Given the description of an element on the screen output the (x, y) to click on. 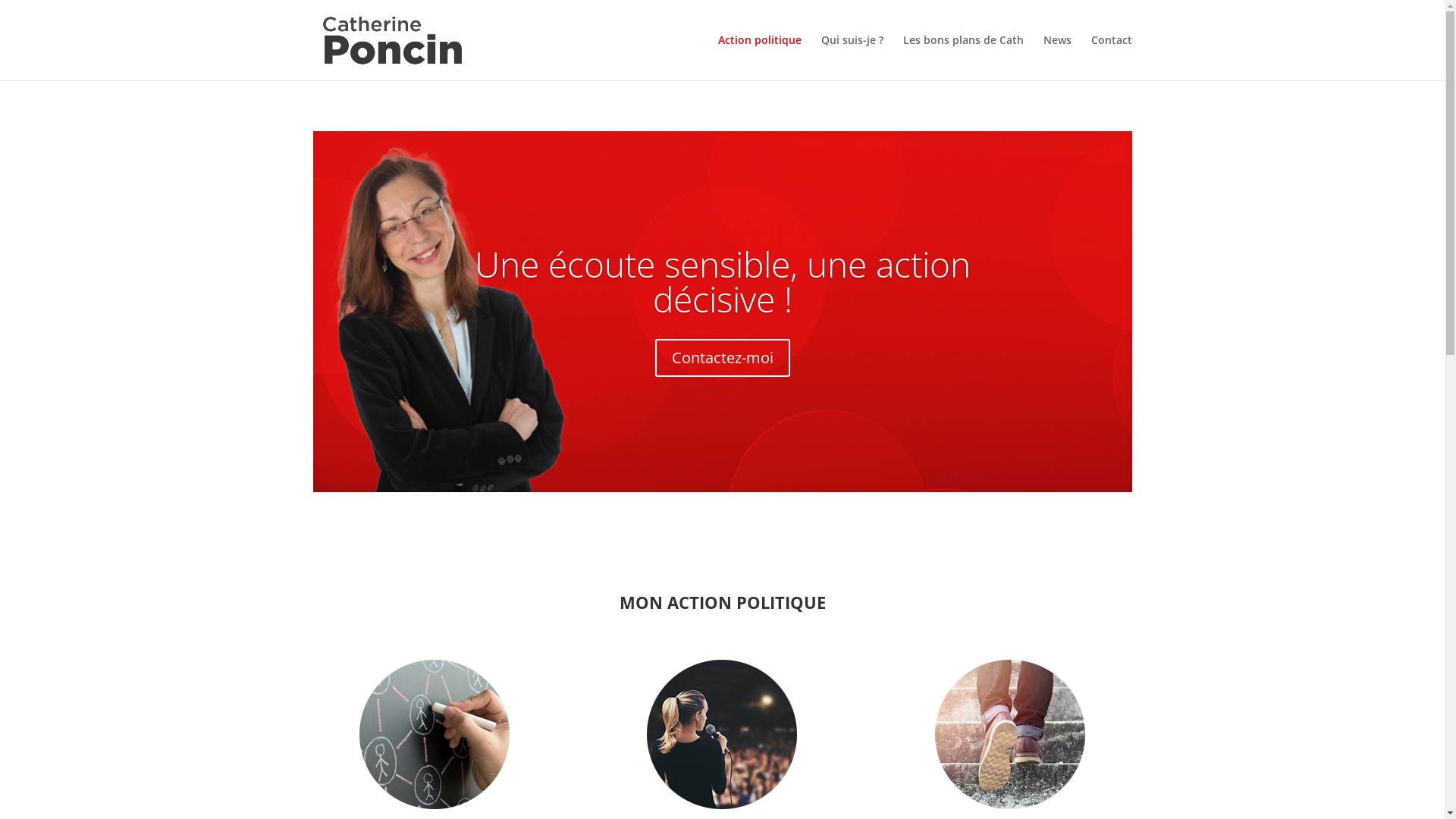
Action politique Element type: text (758, 57)
Les bons plans de Cath Element type: text (962, 57)
News Element type: text (1057, 57)
Contact Element type: text (1110, 57)
Qui suis-je ? Element type: text (851, 57)
Contactez-moi Element type: text (722, 357)
